Given the description of an element on the screen output the (x, y) to click on. 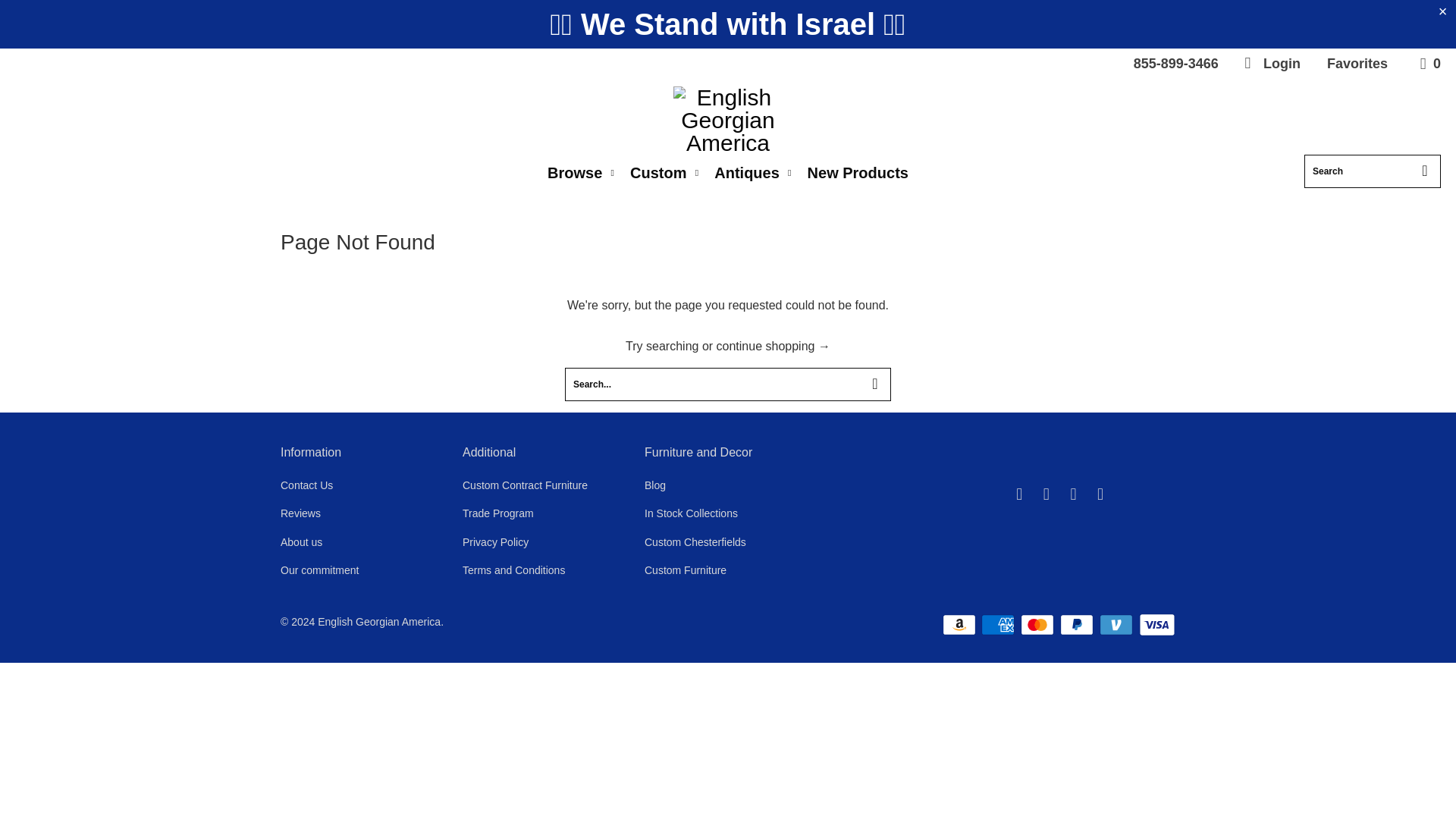
English Georgian America  on Facebook (1019, 494)
American Express (999, 624)
Email English Georgian America  (1100, 494)
English Georgian America  (727, 120)
Amazon (960, 624)
English Georgian America  on Pinterest (1046, 494)
Mastercard (1038, 624)
English Georgian America  on Instagram (1073, 494)
My Account  (1270, 63)
Venmo (1117, 624)
PayPal (1077, 624)
Visa (1156, 624)
